Given the description of an element on the screen output the (x, y) to click on. 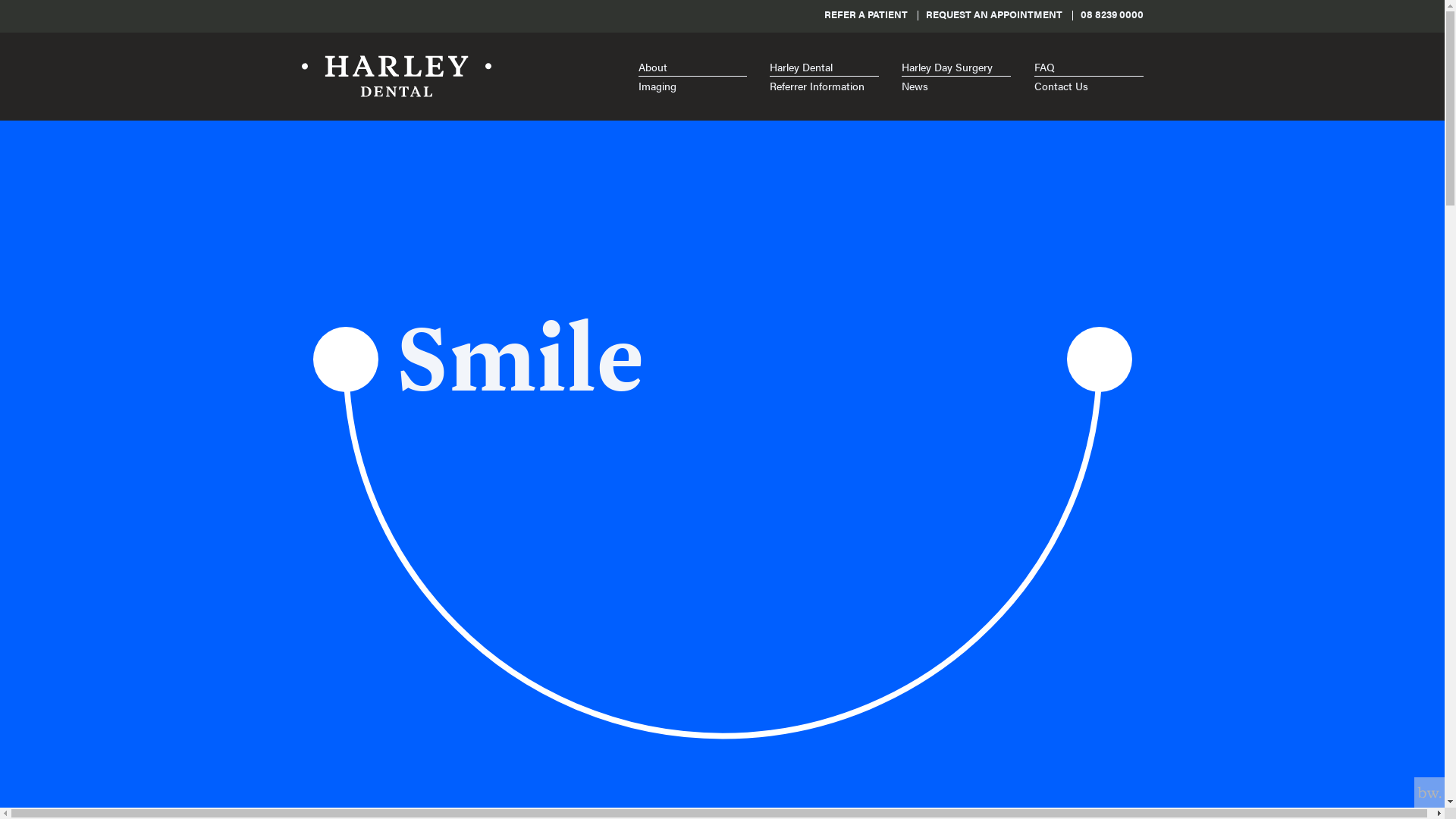
REQUEST AN APPOINTMENT Element type: text (993, 14)
FAQ Element type: text (1088, 66)
Harley Day Surgery Element type: text (955, 66)
REFER A PATIENT Element type: text (864, 14)
08 8239 0000 Element type: text (1110, 14)
About Element type: text (692, 66)
Harley Dental - Home Element type: hover (396, 76)
Contact Us Element type: text (1088, 85)
Referrer Information Element type: text (823, 85)
News Element type: text (955, 85)
Harley Dental Element type: text (823, 66)
Imaging Element type: text (692, 85)
